Given the description of an element on the screen output the (x, y) to click on. 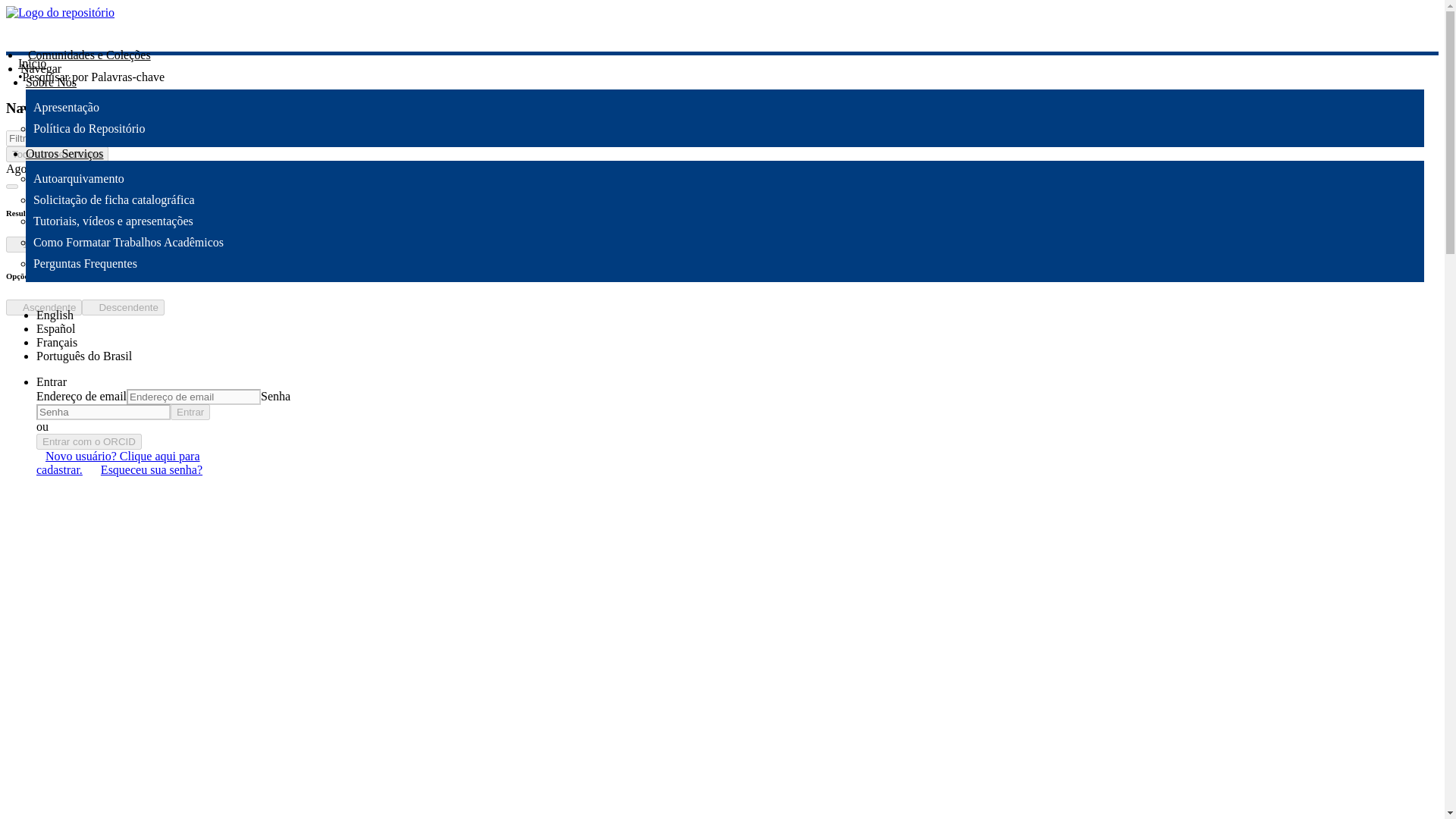
Todos os resultados (56, 154)
10 (79, 244)
100 (252, 244)
40 (147, 244)
5 (47, 244)
60 (181, 244)
Autoarquivamento (78, 178)
Esqueceu sua senha? (151, 469)
1 (19, 244)
Navegar (40, 68)
